Given the description of an element on the screen output the (x, y) to click on. 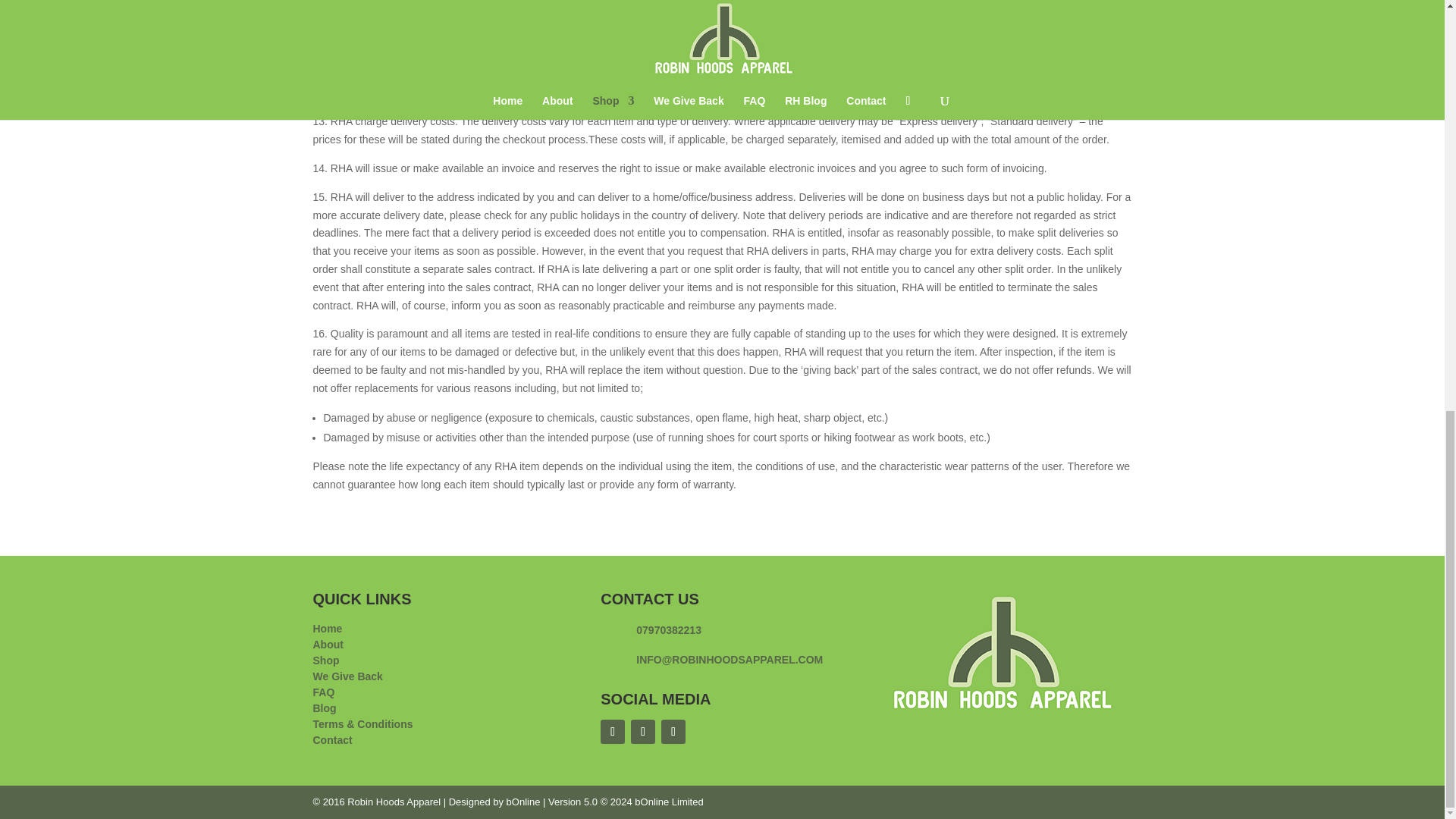
Blog (324, 707)
07970382213 (668, 630)
FAQ (323, 692)
Follow on Instagram (673, 731)
Shop (326, 660)
We Give Back (347, 676)
About (327, 644)
Follow on Facebook (611, 731)
Follow on X (642, 731)
Home (327, 628)
